Given the description of an element on the screen output the (x, y) to click on. 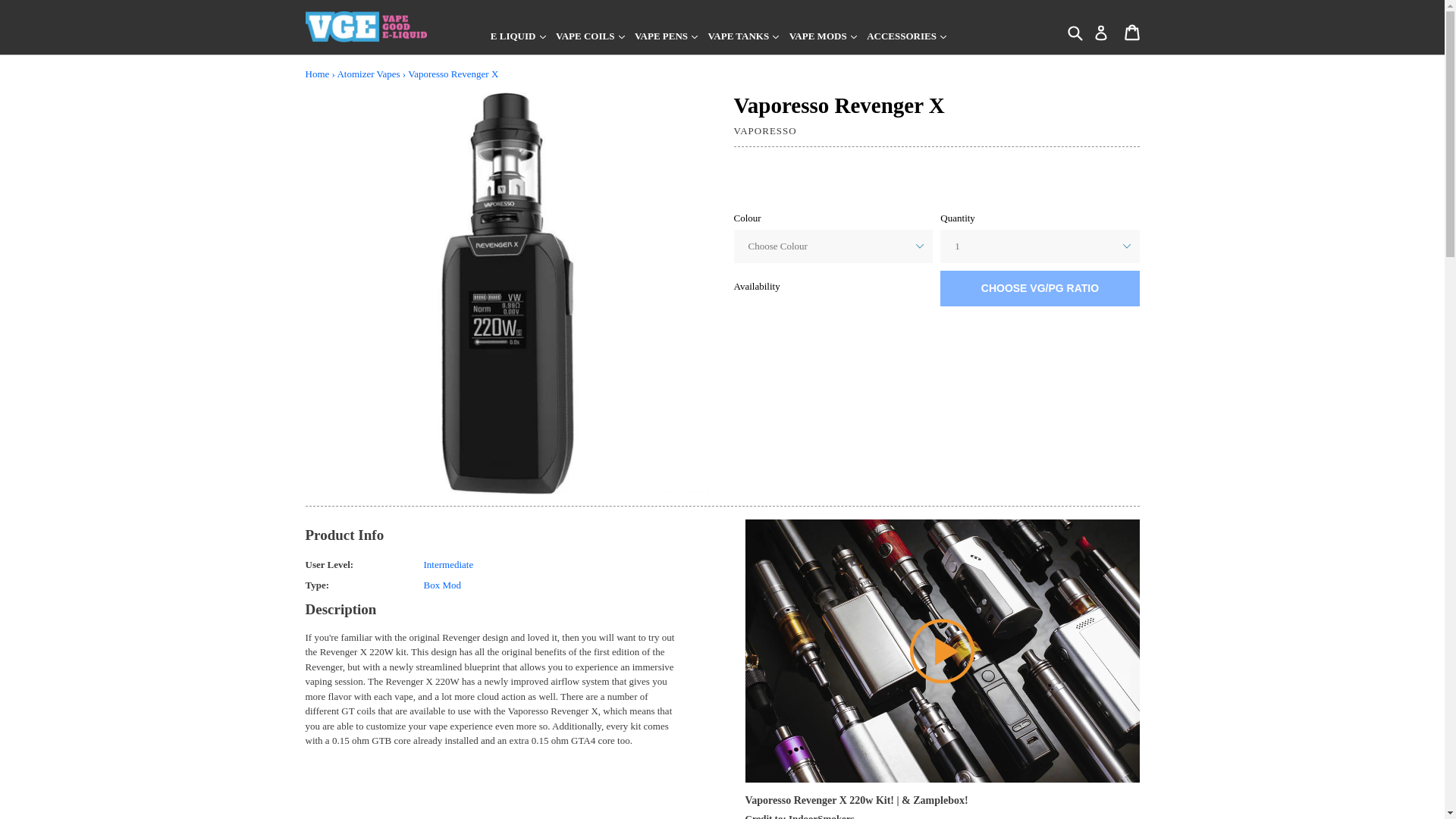
Home (316, 73)
